Given the description of an element on the screen output the (x, y) to click on. 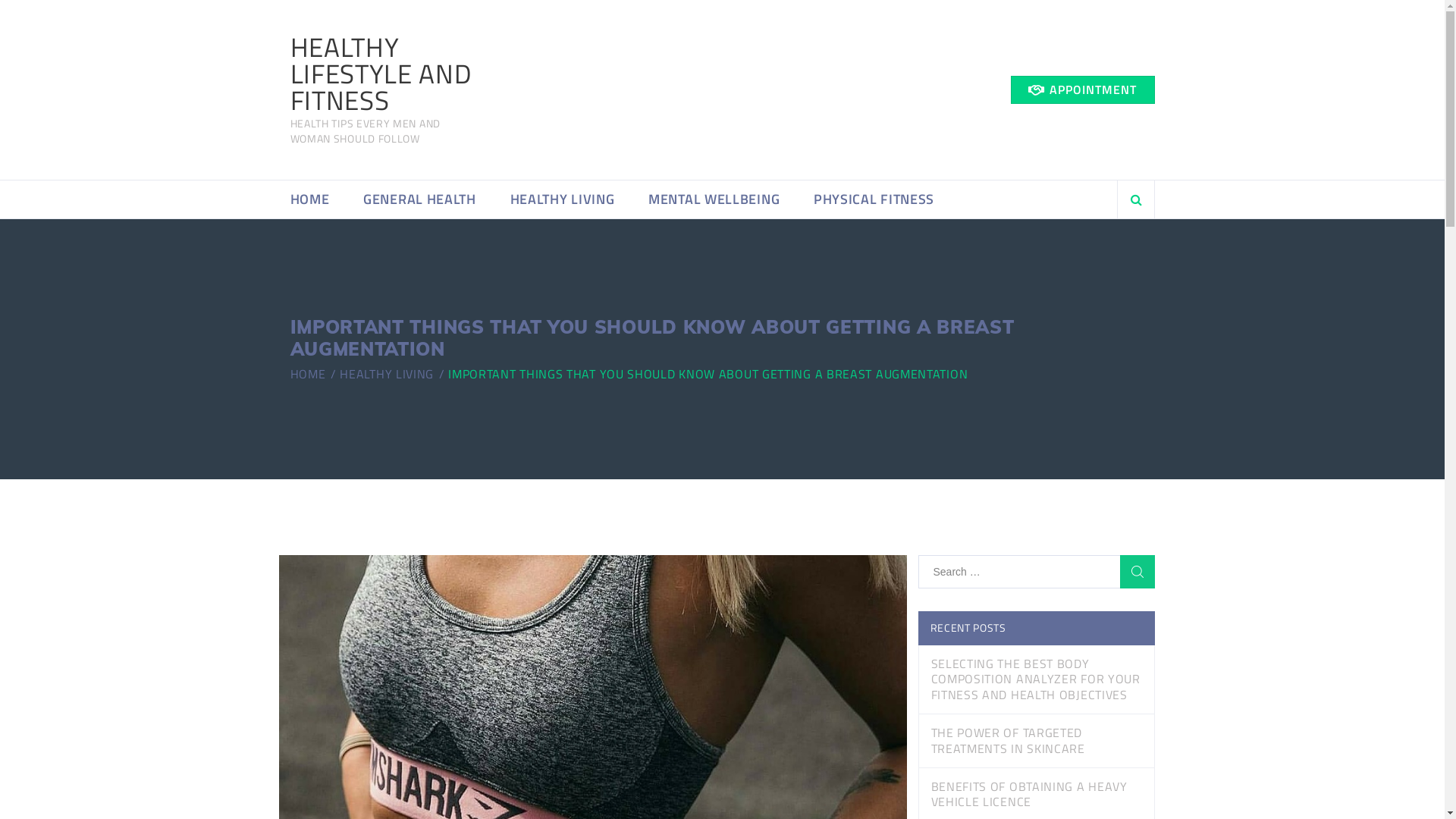
GENERAL HEALTH Element type: text (419, 199)
HEALTHY LIVING Element type: text (386, 373)
HOME Element type: text (307, 373)
THE POWER OF TARGETED TREATMENTS IN SKINCARE Element type: text (1035, 741)
HOME Element type: text (309, 199)
HEALTHY LIVING Element type: text (562, 199)
Search Element type: text (1136, 571)
APPOINTMENT Element type: text (1082, 89)
PHYSICAL FITNESS Element type: text (873, 199)
Search Element type: text (1116, 246)
HEALTHY LIFESTYLE AND FITNESS Element type: text (384, 73)
MENTAL WELLBEING Element type: text (713, 199)
